Given the description of an element on the screen output the (x, y) to click on. 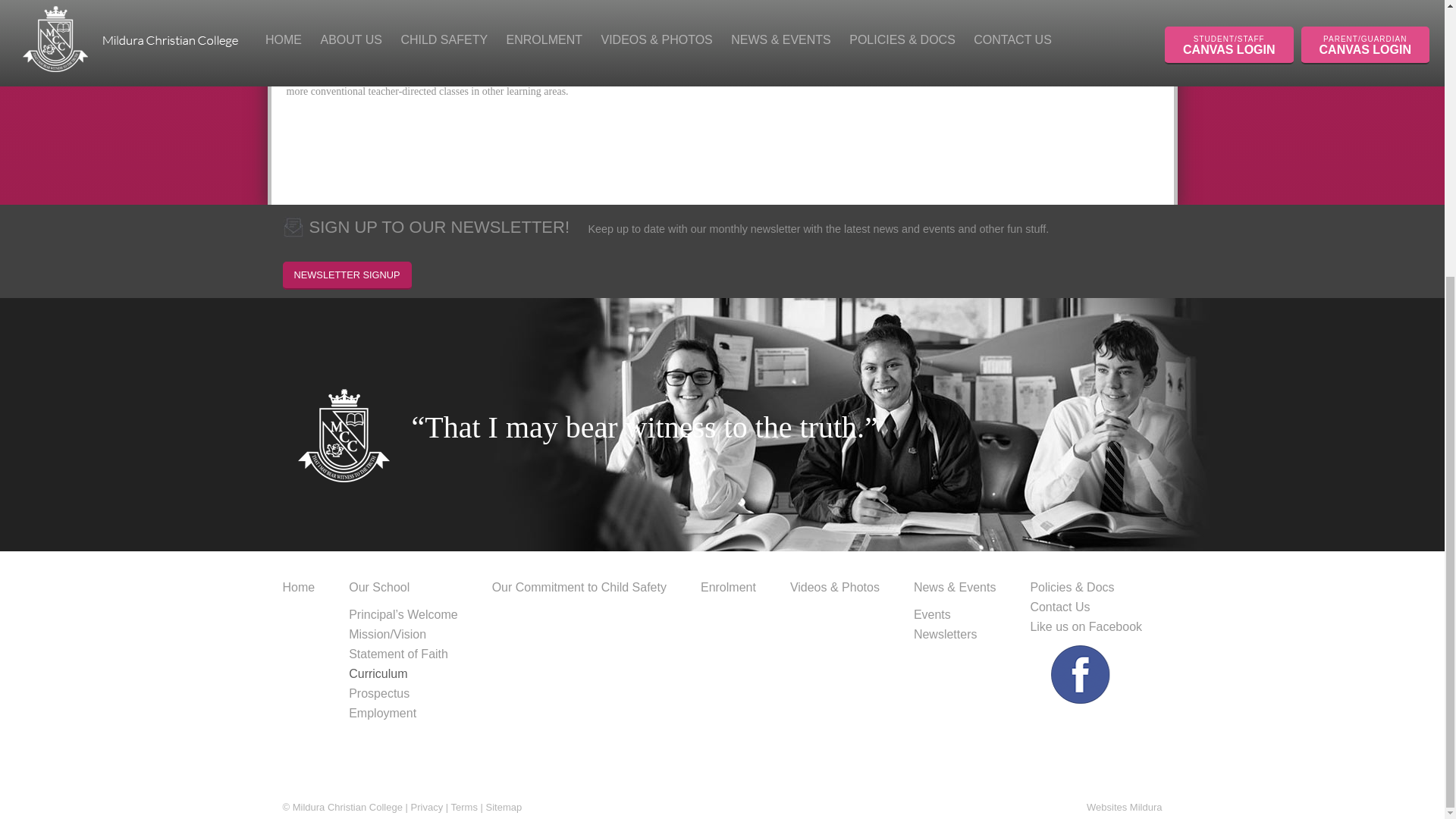
facebook-likeus (1075, 693)
